Given the description of an element on the screen output the (x, y) to click on. 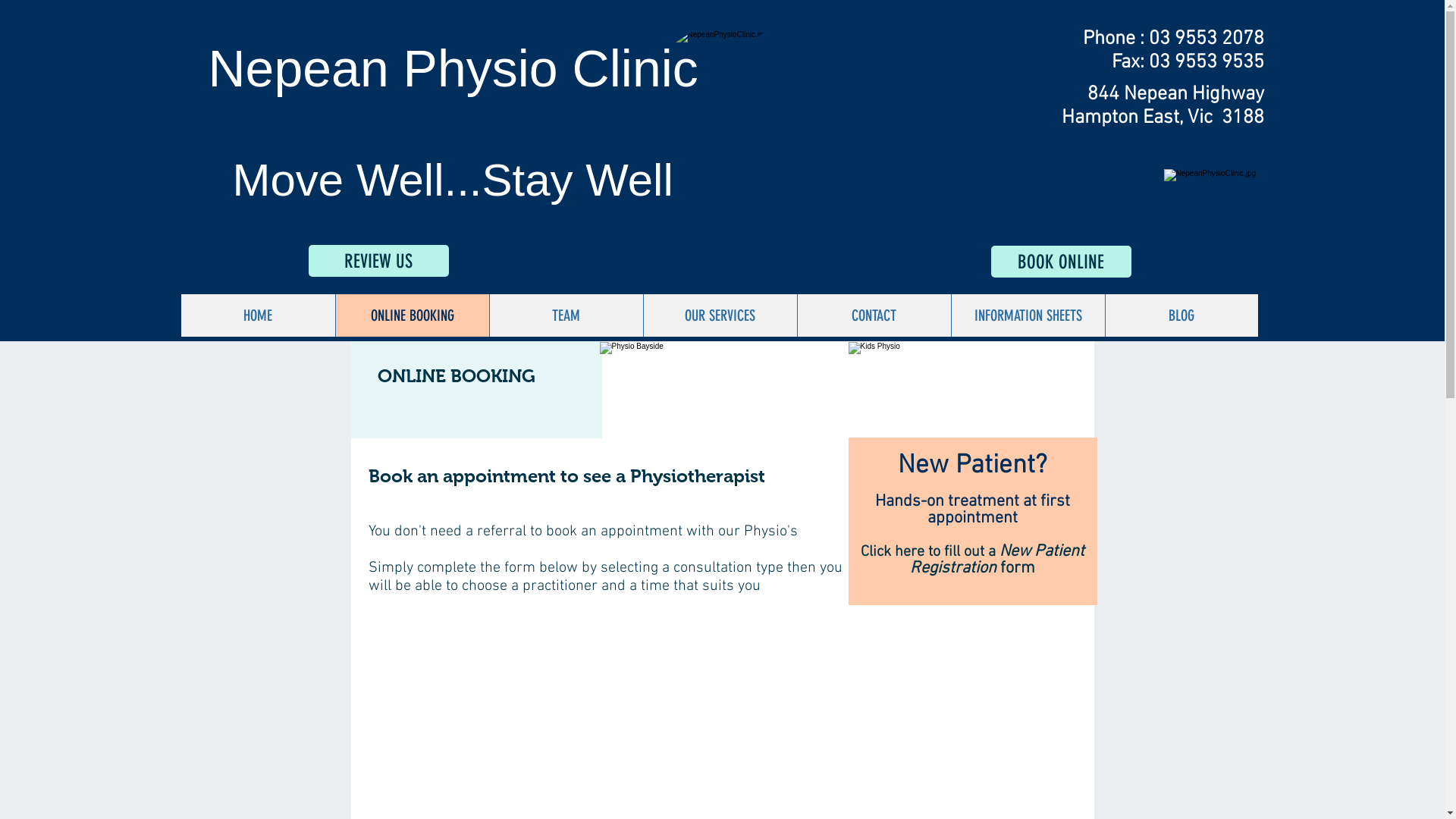
BOOK ONLINE Element type: text (1060, 261)
03 9553 2078 Element type: text (1205, 38)
New Patient? Element type: text (972, 465)
Click here to fill out a New Patient Registration form Element type: text (972, 559)
CONTACT Element type: text (873, 315)
INFORMATION SHEETS Element type: text (1027, 315)
Nepean Physio Clinic Element type: text (452, 68)
REVIEW US Element type: text (377, 260)
TEAM Element type: text (565, 315)
OUR SERVICES Element type: text (720, 315)
HOME Element type: text (257, 315)
Move Well...Stay Well Element type: text (452, 179)
ONLINE BOOKING Element type: text (412, 315)
BLOG Element type: text (1180, 315)
